Given the description of an element on the screen output the (x, y) to click on. 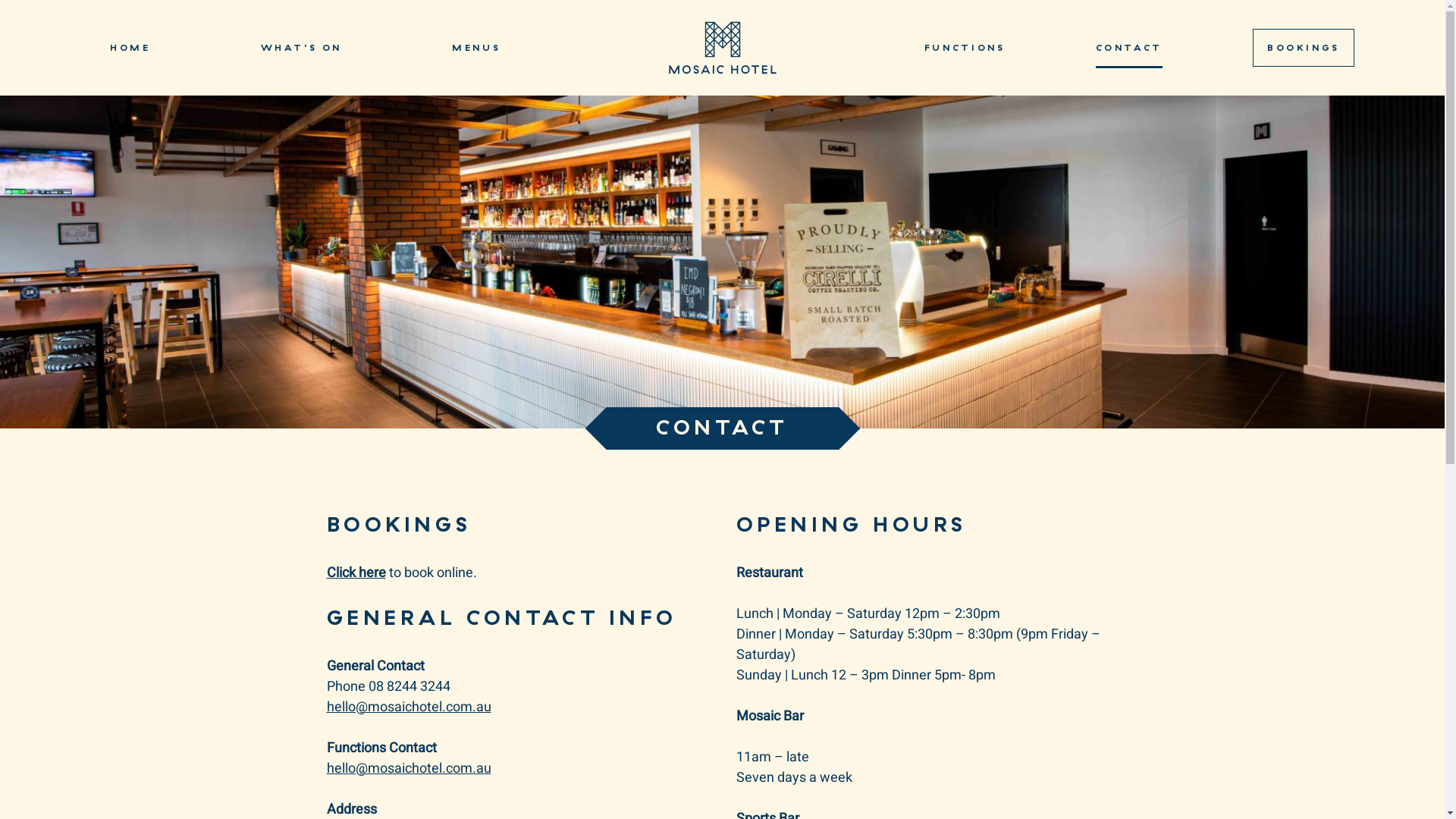
CONTACT Element type: text (1128, 47)
hello@mosaichotel.com.au Element type: text (408, 706)
Click here Element type: text (355, 572)
MENUS Element type: text (475, 47)
FUNCTIONS Element type: text (964, 47)
WHAT'S ON Element type: text (301, 47)
BOOKINGS Element type: text (1303, 47)
hello@mosaichotel.com.au Element type: text (408, 768)
HOME Element type: text (129, 47)
